Given the description of an element on the screen output the (x, y) to click on. 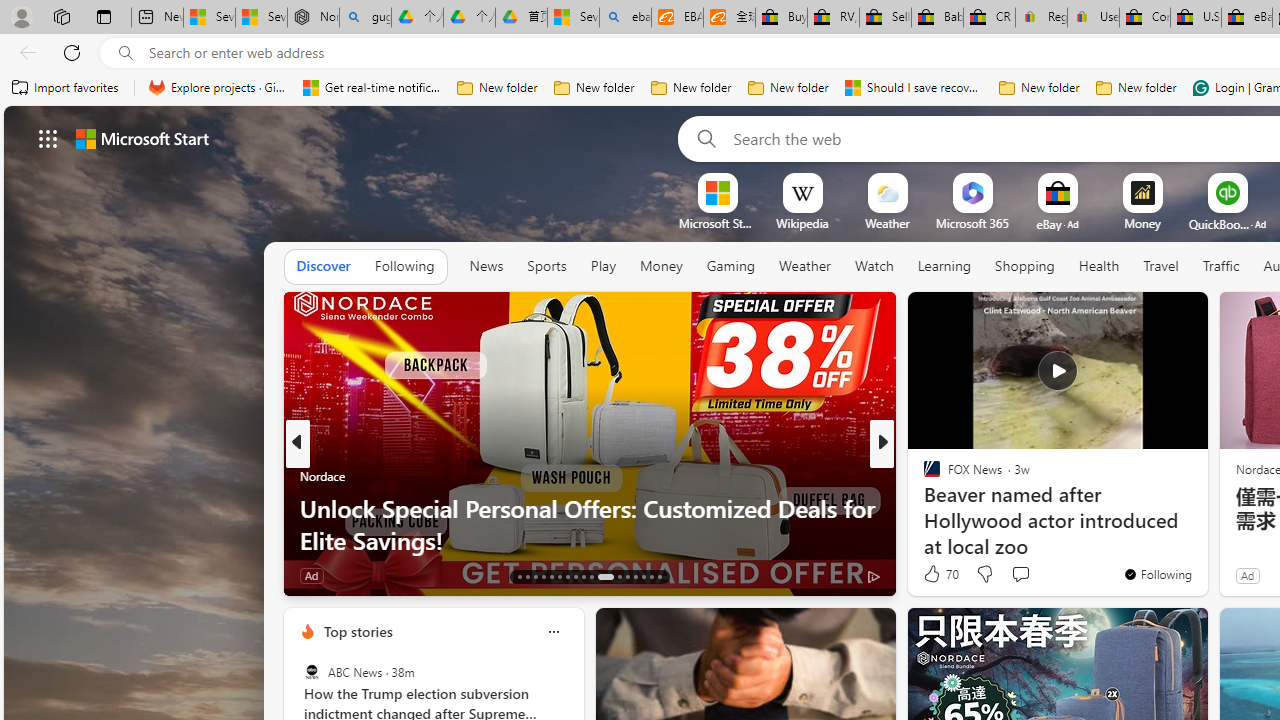
Sports (546, 265)
Gaming (730, 265)
11 Like (934, 574)
RV, Trailer & Camper Steps & Ladders for sale | eBay (832, 17)
Gaming (730, 267)
Refresh (72, 52)
Men's Health (923, 475)
AutomationID: tab-17 (550, 576)
Shopping (1025, 265)
AutomationID: tab-24 (619, 576)
To get missing image descriptions, open the context menu. (717, 192)
